Given the description of an element on the screen output the (x, y) to click on. 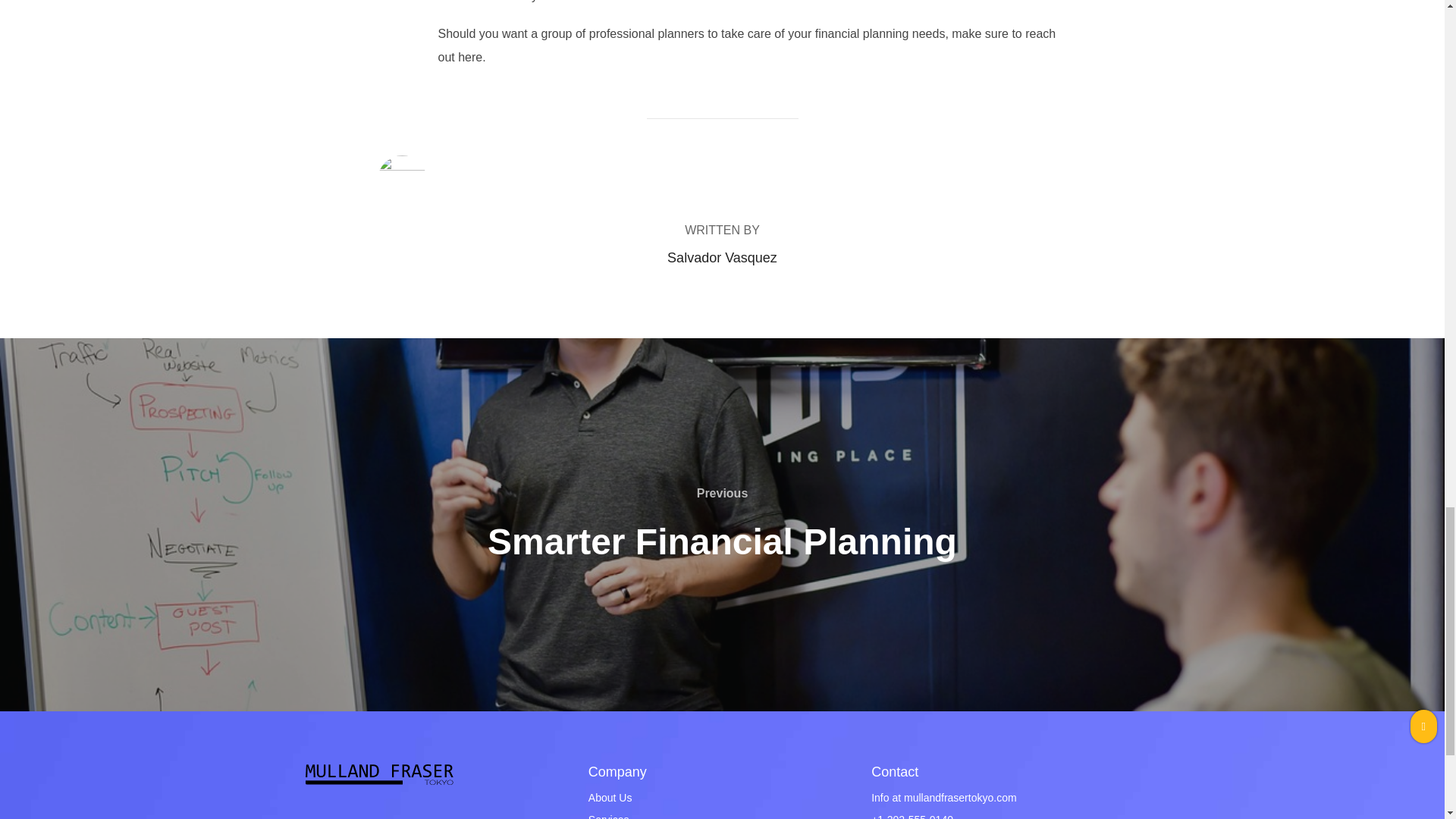
Salvador Vasquez (721, 257)
Services (608, 816)
Posts by Salvador Vasquez (721, 257)
About Us (609, 797)
